Given the description of an element on the screen output the (x, y) to click on. 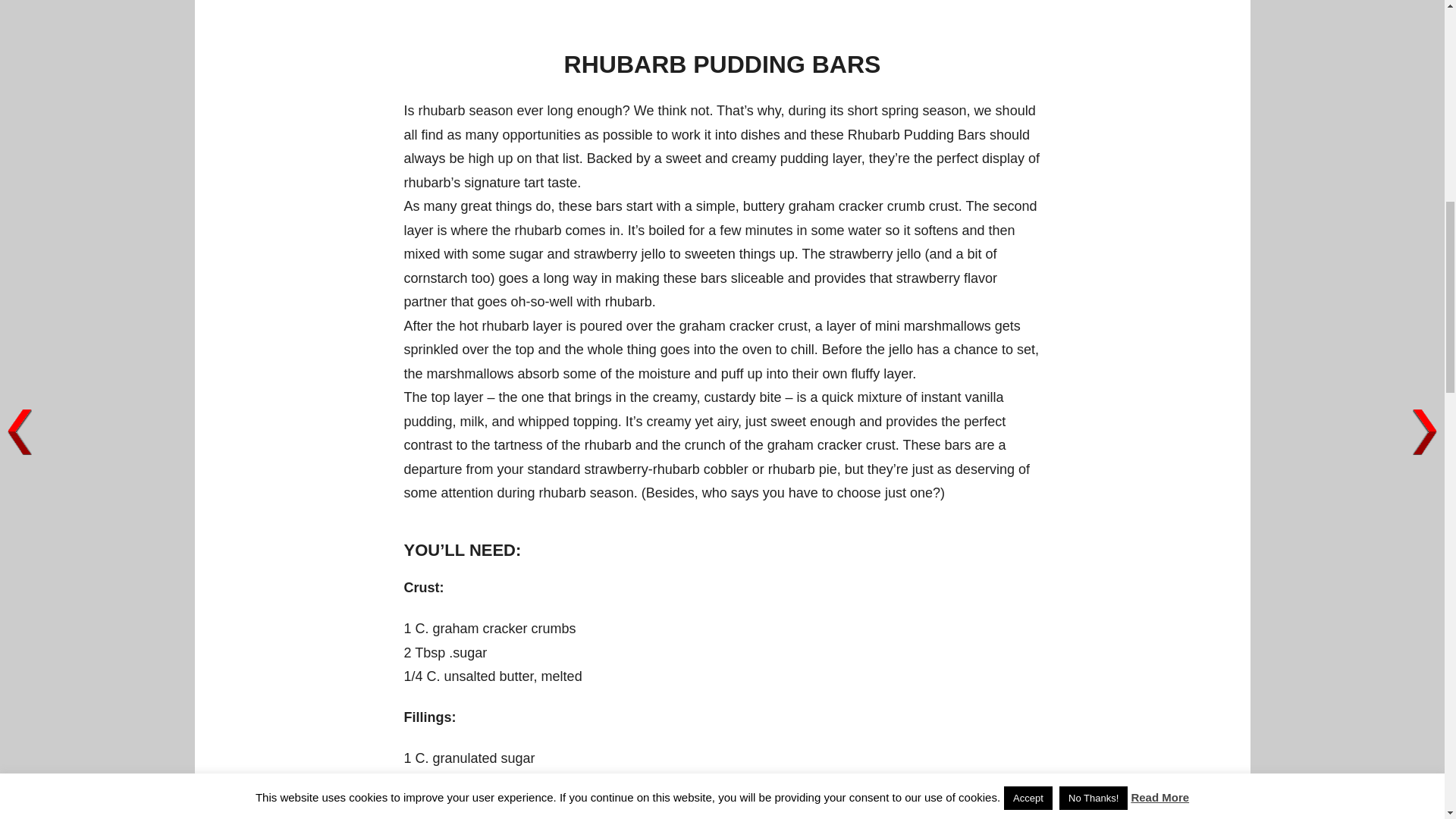
Advertisement (721, 7)
